Given the description of an element on the screen output the (x, y) to click on. 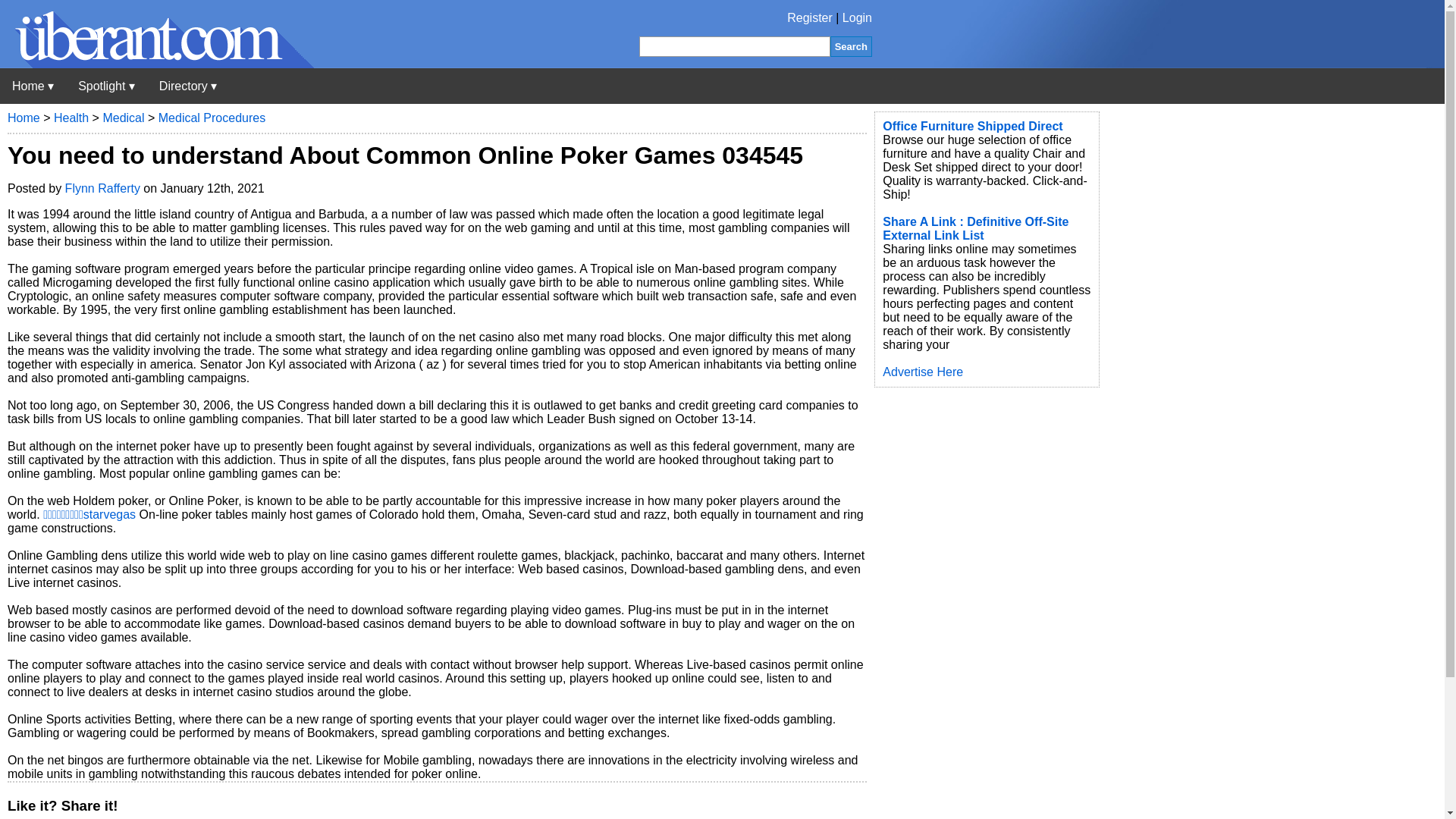
Search (850, 46)
Search (850, 46)
Uberant (157, 63)
Uberant (32, 85)
Login (857, 17)
Register (809, 17)
